Given the description of an element on the screen output the (x, y) to click on. 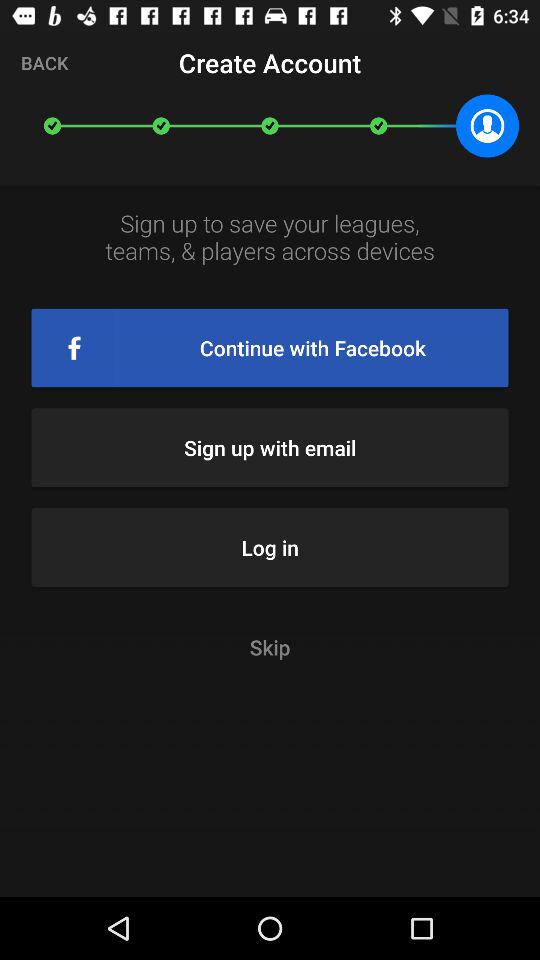
open icon next to create account item (44, 62)
